Given the description of an element on the screen output the (x, y) to click on. 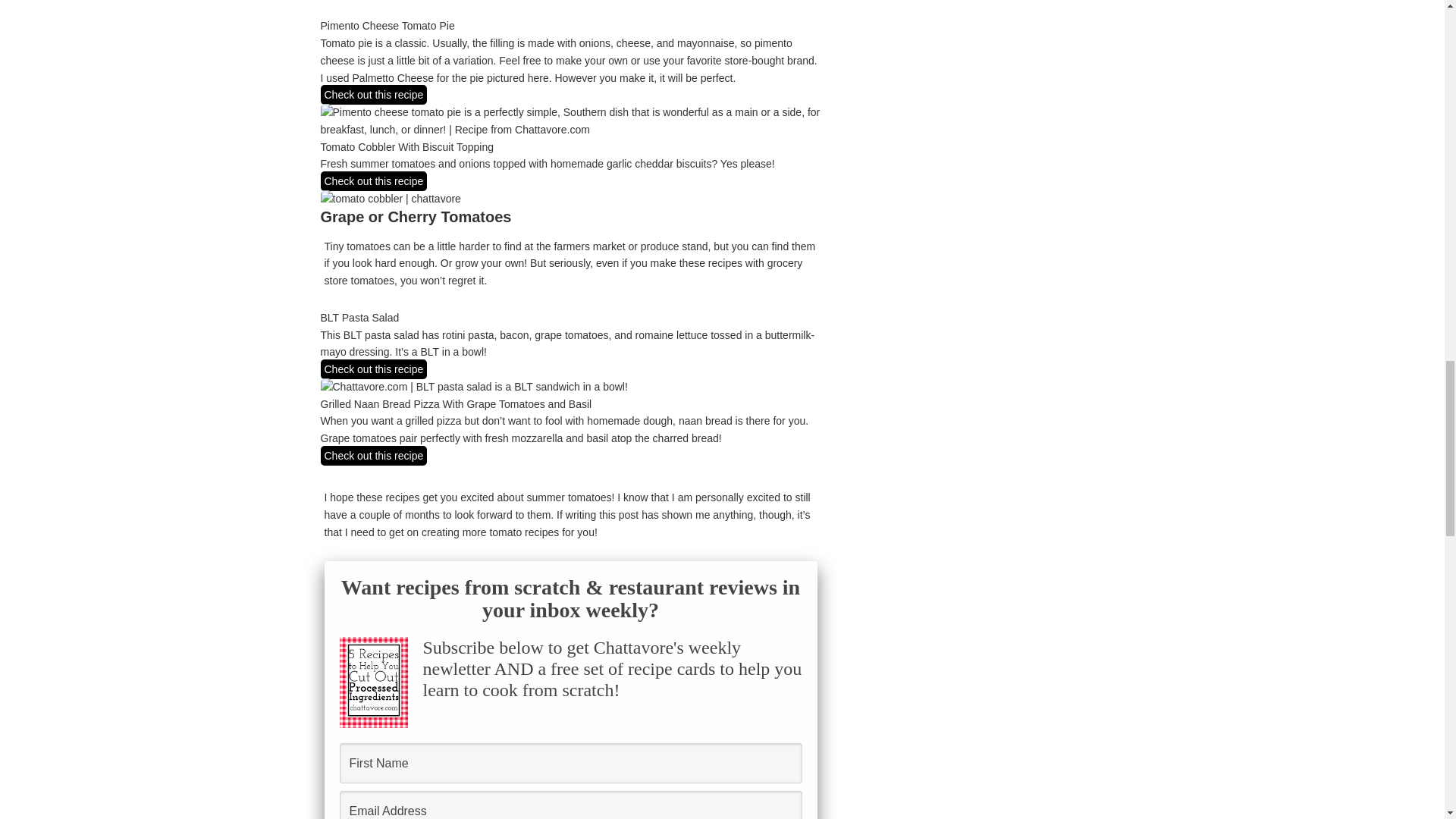
Check out this recipe (373, 94)
Check out this recipe (373, 180)
Check out this recipe (373, 455)
Check out this recipe (373, 369)
